Given the description of an element on the screen output the (x, y) to click on. 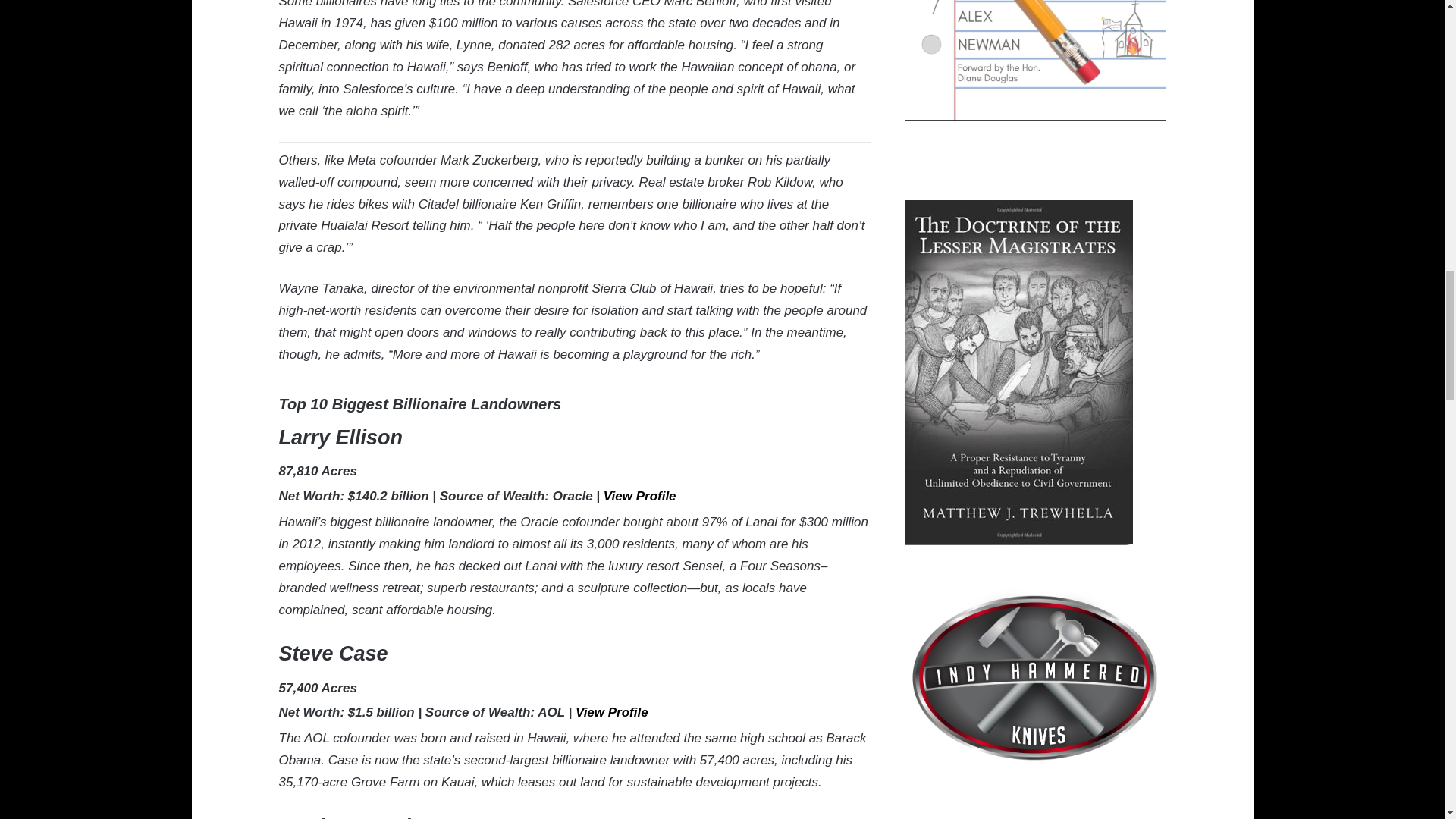
View Profile (640, 496)
View Profile (611, 712)
